Given the description of an element on the screen output the (x, y) to click on. 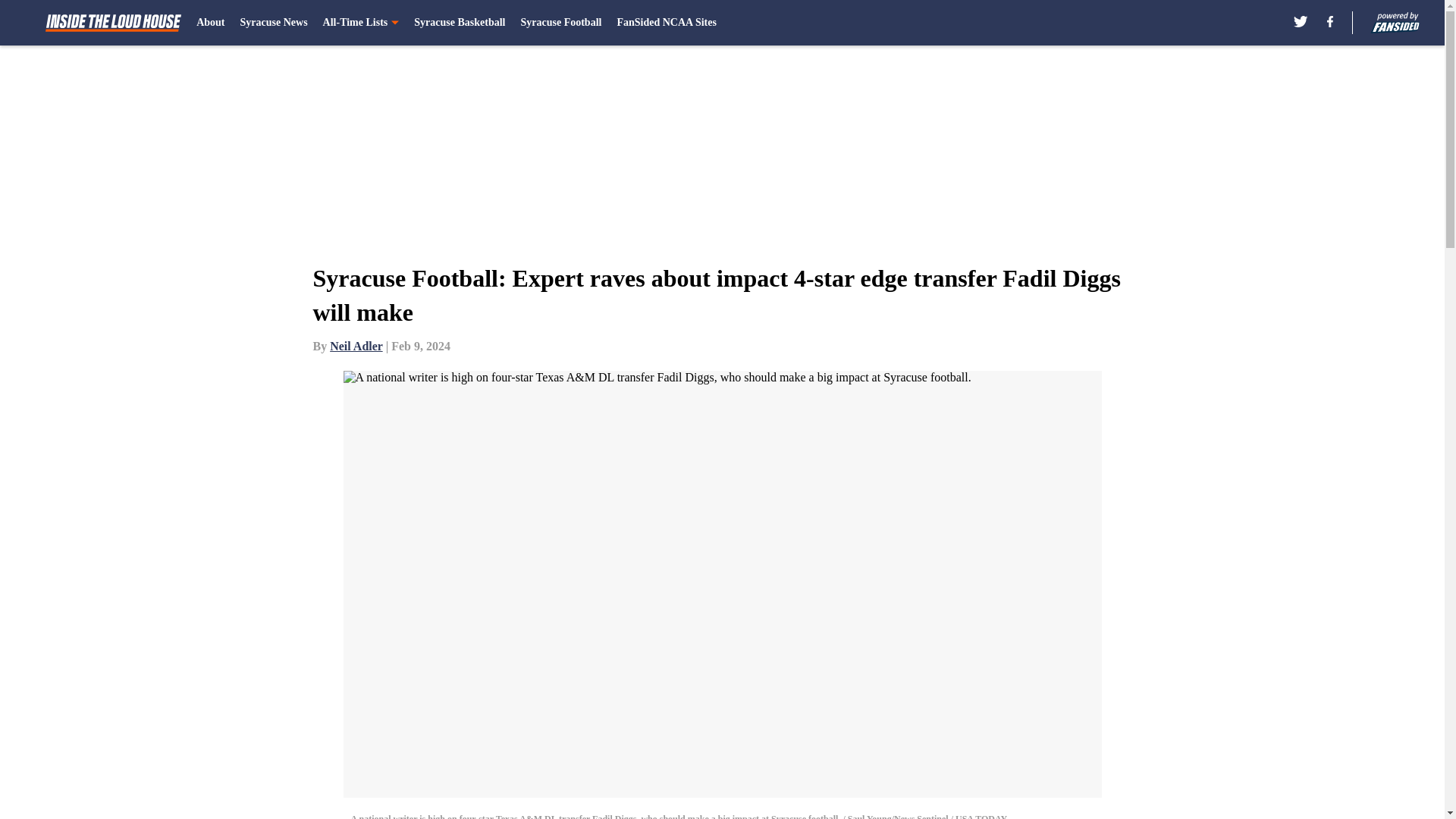
FanSided NCAA Sites (665, 22)
Syracuse News (273, 22)
Syracuse Basketball (459, 22)
About (210, 22)
Syracuse Football (560, 22)
Neil Adler (355, 345)
